Given the description of an element on the screen output the (x, y) to click on. 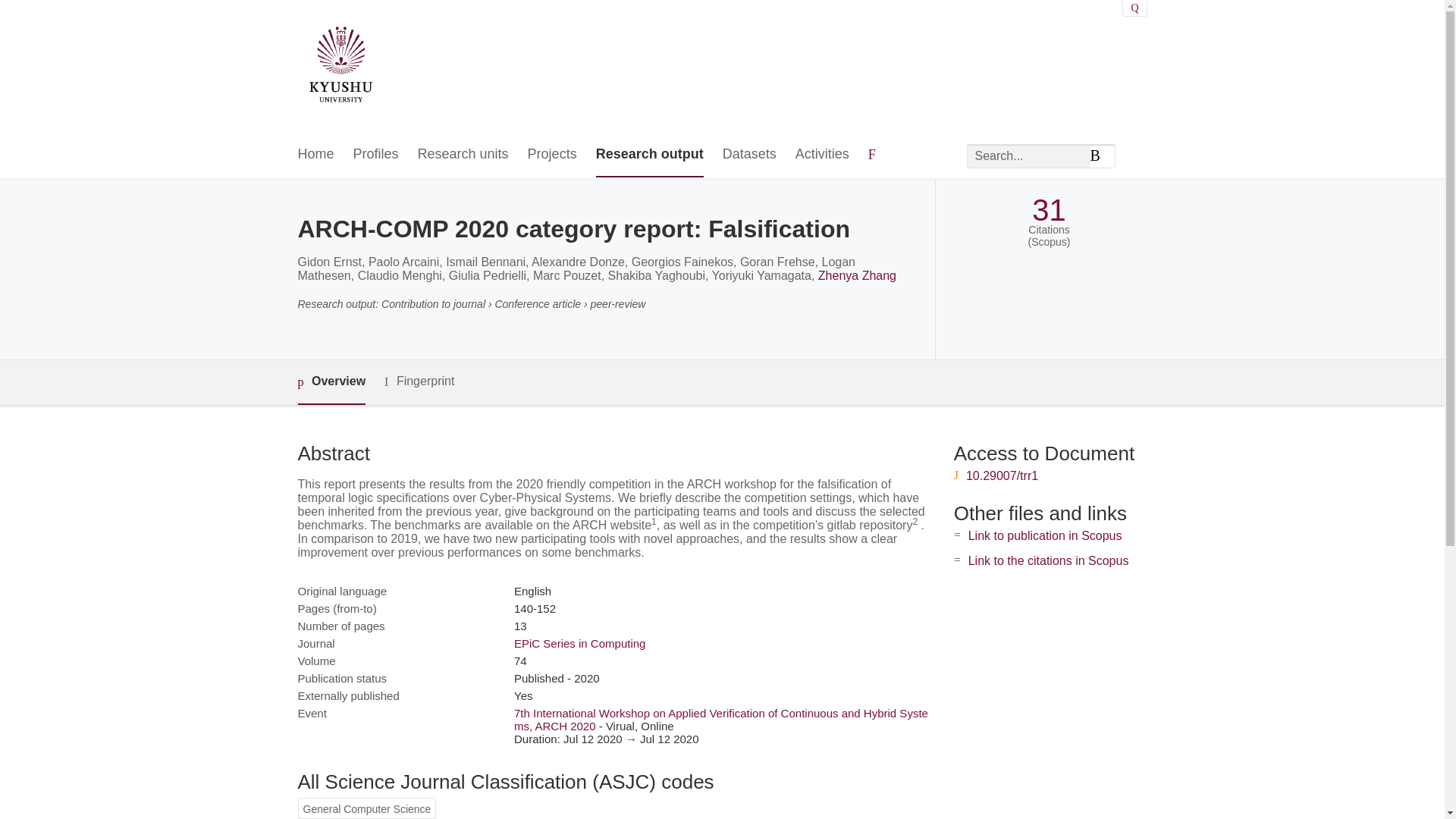
EPiC Series in Computing (579, 643)
31 (1048, 210)
Research output (649, 154)
Overview (331, 382)
Zhenya Zhang (857, 275)
Link to the citations in Scopus (1048, 560)
Fingerprint (419, 381)
Datasets (749, 154)
Research units (462, 154)
